Given the description of an element on the screen output the (x, y) to click on. 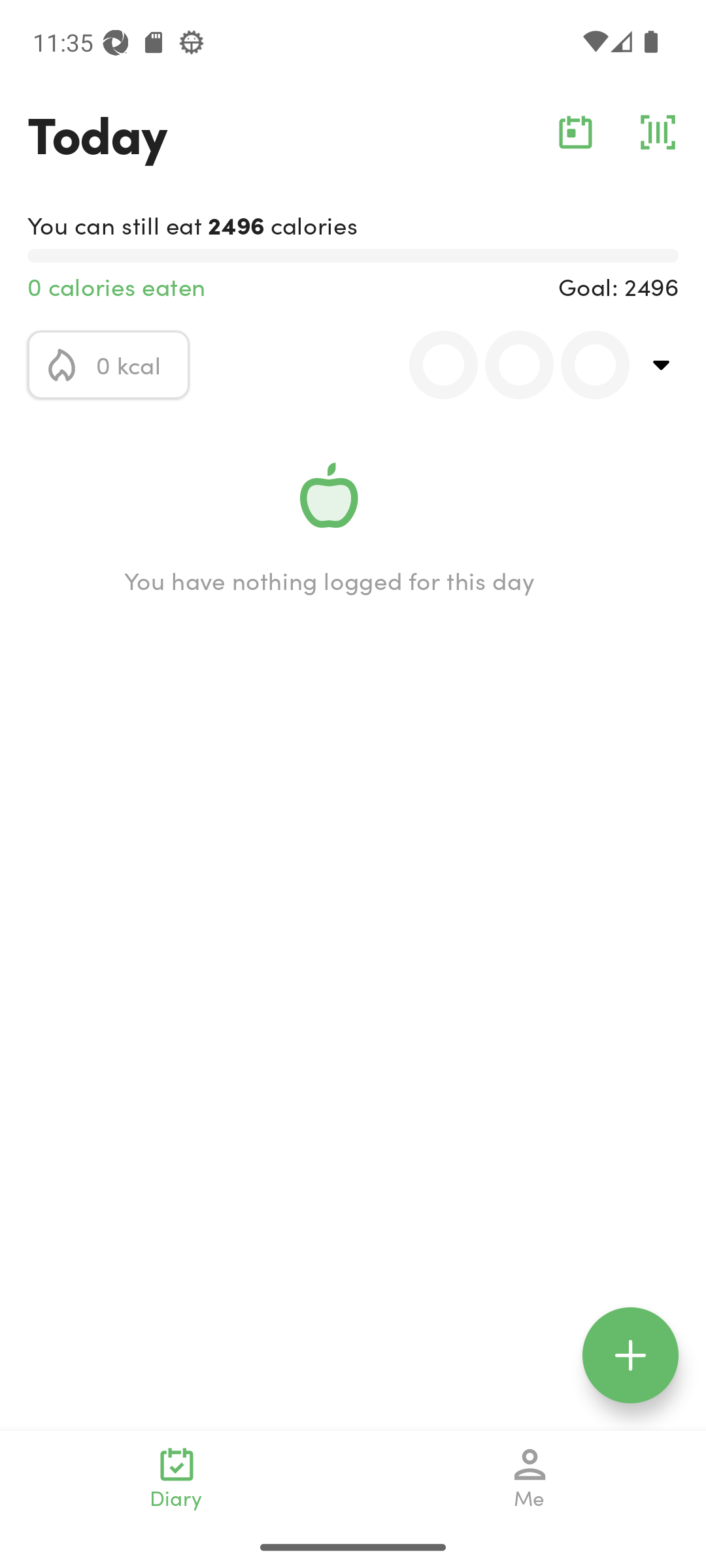
calendar_action (575, 132)
barcode_action (658, 132)
calorie_icon 0 kcal (108, 365)
0.0 0.0 0.0 (508, 365)
top_right_action (661, 365)
floating_action_icon (630, 1355)
Me navigation_icon (529, 1478)
